Given the description of an element on the screen output the (x, y) to click on. 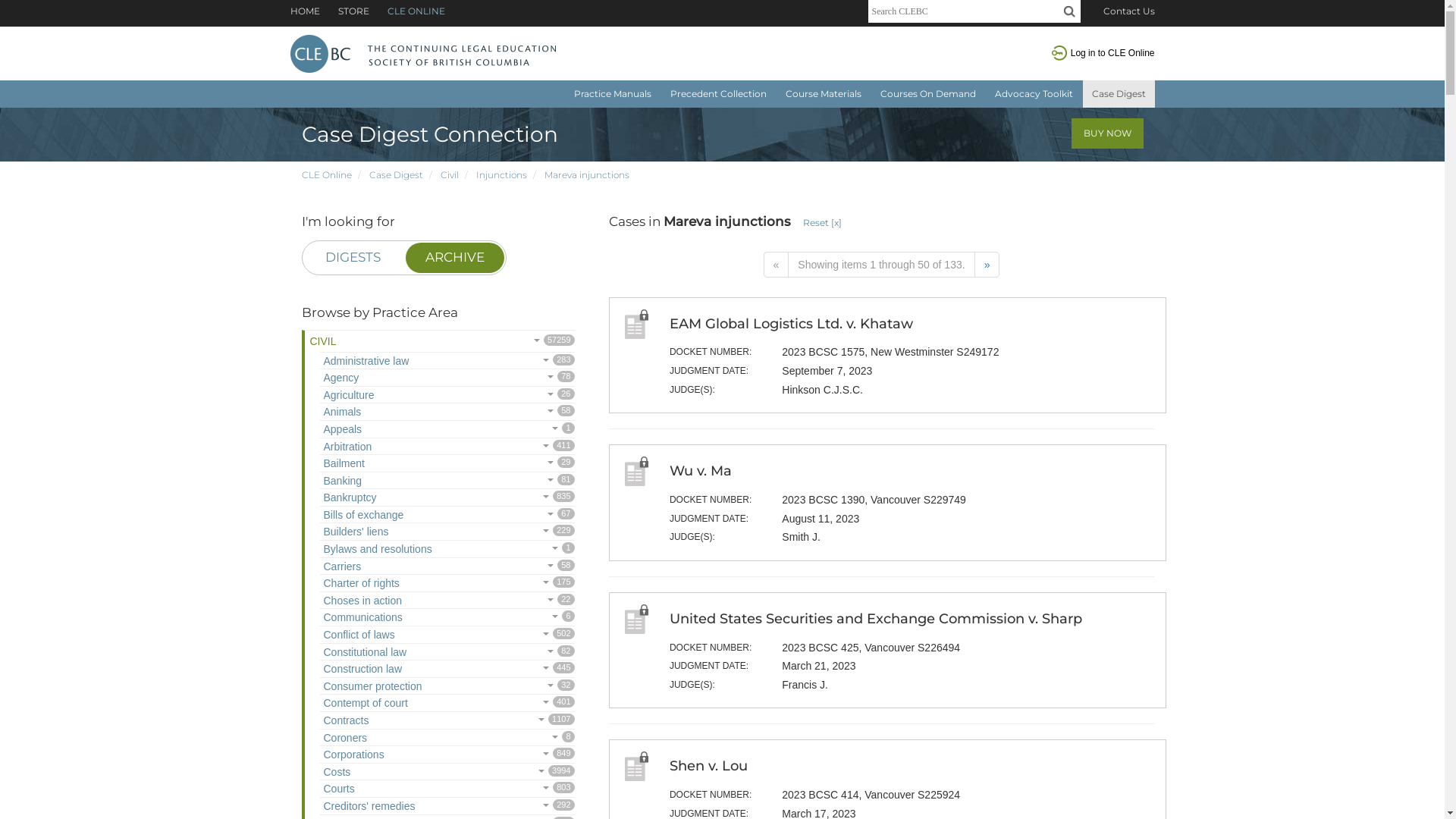
Case Digest Element type: text (1118, 93)
Appeals Element type: text (341, 431)
Course Materials Element type: text (823, 93)
32 Element type: text (423, 688)
Practice Manuals Element type: text (611, 93)
Constitutional law Element type: text (363, 654)
Banking Element type: text (341, 482)
CLE ONLINE Element type: text (407, 10)
81 Element type: text (363, 482)
502 Element type: text (396, 636)
Injunctions Element type: text (501, 174)
CIVIL Element type: text (331, 340)
BUY NOW Element type: text (1106, 133)
8 Element type: text (368, 739)
Administrative law Element type: text (364, 362)
Bankruptcy Element type: text (348, 499)
DIGESTS Element type: text (352, 257)
Contact Us Element type: text (1128, 10)
175 Element type: text (401, 585)
Agency Element type: text (339, 379)
Conflict of laws Element type: text (357, 636)
Coroners Element type: text (343, 739)
803 Element type: text (356, 790)
Creditors' remedies Element type: text (367, 807)
Carriers Element type: text (340, 568)
82 Element type: text (408, 654)
283 Element type: text (410, 362)
Animals Element type: text (340, 413)
849 Element type: text (386, 756)
1107 Element type: text (370, 722)
292 Element type: text (416, 807)
445 Element type: text (403, 670)
HOME Element type: text (304, 10)
3994 Element type: text (352, 773)
Bills of exchange Element type: text (362, 516)
1 Element type: text (434, 550)
6 Element type: text (404, 619)
Construction law Element type: text (361, 670)
Charter of rights Element type: text (359, 585)
26 Element type: text (375, 396)
Contempt of court Element type: text (363, 704)
Civil Element type: text (448, 174)
58 Element type: text (362, 413)
835 Element type: text (378, 499)
Communications Element type: text (361, 619)
Showing items 1 through 50 of 133. Element type: text (880, 264)
67 Element type: text (405, 516)
Consumer protection Element type: text (371, 688)
29 Element type: text (366, 465)
Case Digest Element type: text (395, 174)
Bylaws and resolutions Element type: text (376, 550)
411 Element type: text (373, 448)
Courses On Demand Element type: text (927, 93)
Precedent Collection Element type: text (718, 93)
STORE Element type: text (346, 10)
CLE Online Element type: text (326, 174)
58 Element type: text (362, 568)
Contracts Element type: text (344, 722)
ARCHIVE Element type: text (453, 257)
Corporations Element type: text (352, 756)
Mareva injunctions Element type: text (586, 174)
Arbitration Element type: text (346, 448)
Log in to CLE Online Element type: text (1112, 52)
78 Element type: text (360, 379)
401 Element type: text (409, 704)
Advocacy Toolkit Element type: text (1033, 93)
Bailment Element type: text (342, 465)
Reset [x] Element type: text (821, 222)
Builders' liens Element type: text (354, 533)
Choses in action Element type: text (361, 602)
22 Element type: text (403, 602)
Courts Element type: text (337, 790)
229 Element type: text (390, 533)
Costs Element type: text (335, 773)
57259 Element type: text (373, 340)
1 Element type: text (363, 431)
Agriculture Element type: text (347, 396)
